Given the description of an element on the screen output the (x, y) to click on. 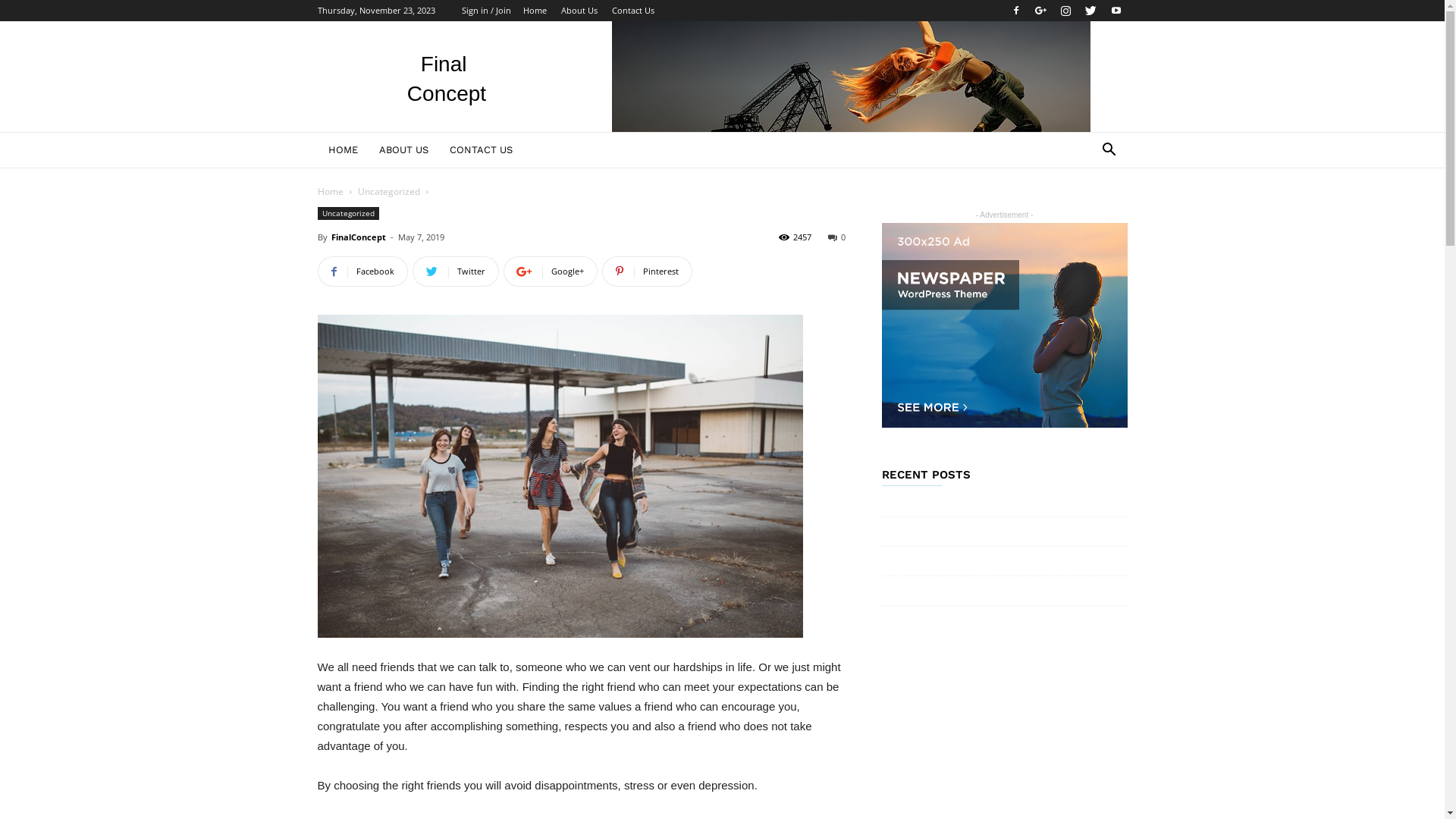
Facebook Element type: text (361, 271)
Home Element type: text (534, 9)
ABOUT US Element type: text (403, 149)
Home Element type: text (329, 191)
Pinterest Element type: text (647, 271)
Facebook Element type: hover (1015, 10)
Search Element type: text (1085, 210)
FinalConcept Element type: text (357, 236)
Sign in / Join Element type: text (485, 9)
0 Element type: text (836, 236)
Google+ Element type: text (550, 271)
Twitter Element type: text (455, 271)
CONTACT US Element type: text (480, 149)
Instagram Element type: hover (1065, 10)
Google+ Element type: hover (1040, 10)
HOME Element type: text (341, 149)
Contact Us Element type: text (632, 9)
Youtube Element type: hover (1115, 10)
friends-friendship-fun-52578 Element type: hover (559, 475)
Uncategorized Element type: text (388, 191)
Twitter Element type: hover (1090, 10)
About Us Element type: text (579, 9)
Uncategorized Element type: text (347, 213)
